Given the description of an element on the screen output the (x, y) to click on. 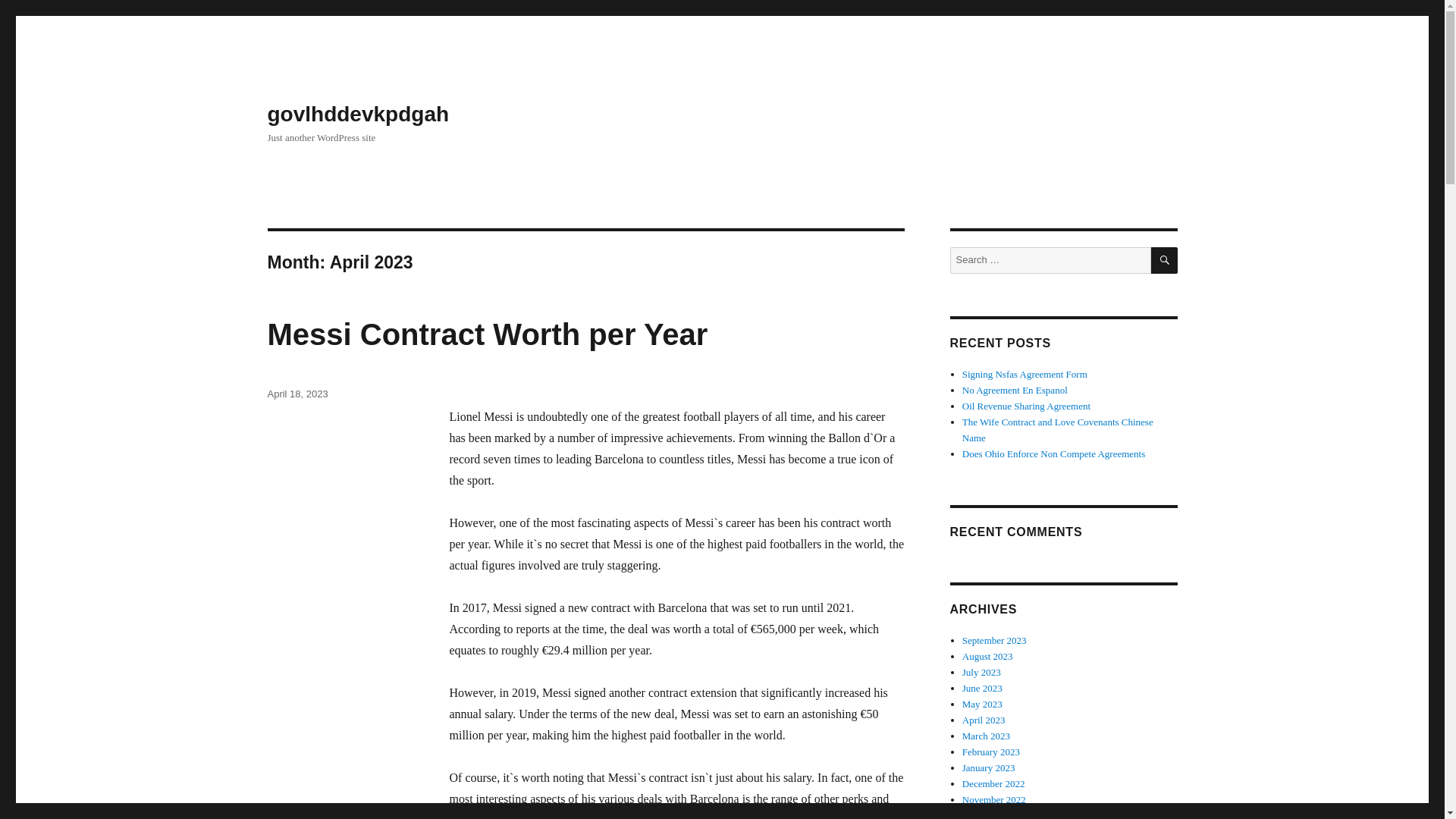
Oil Revenue Sharing Agreement (1026, 405)
May 2023 (982, 704)
Messi Contract Worth per Year (486, 334)
March 2023 (986, 736)
September 2023 (994, 640)
August 2023 (987, 655)
Signing Nsfas Agreement Form (1024, 374)
July 2023 (981, 672)
April 18, 2023 (296, 393)
June 2023 (982, 687)
